Given the description of an element on the screen output the (x, y) to click on. 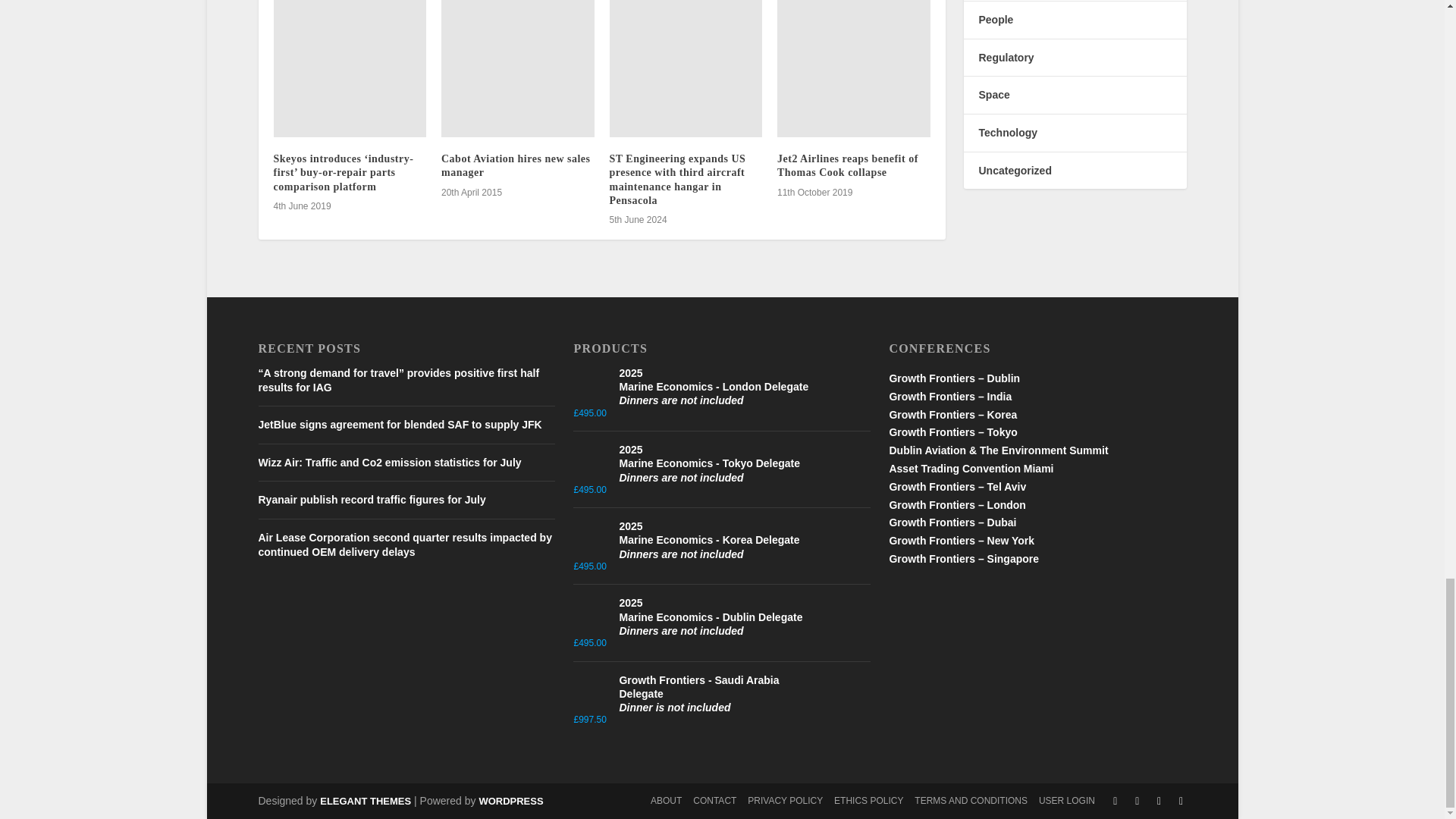
Jet2 Airlines reaps benefit of Thomas Cook collapse (853, 69)
Cabot Aviation hires new sales manager (517, 69)
